Given the description of an element on the screen output the (x, y) to click on. 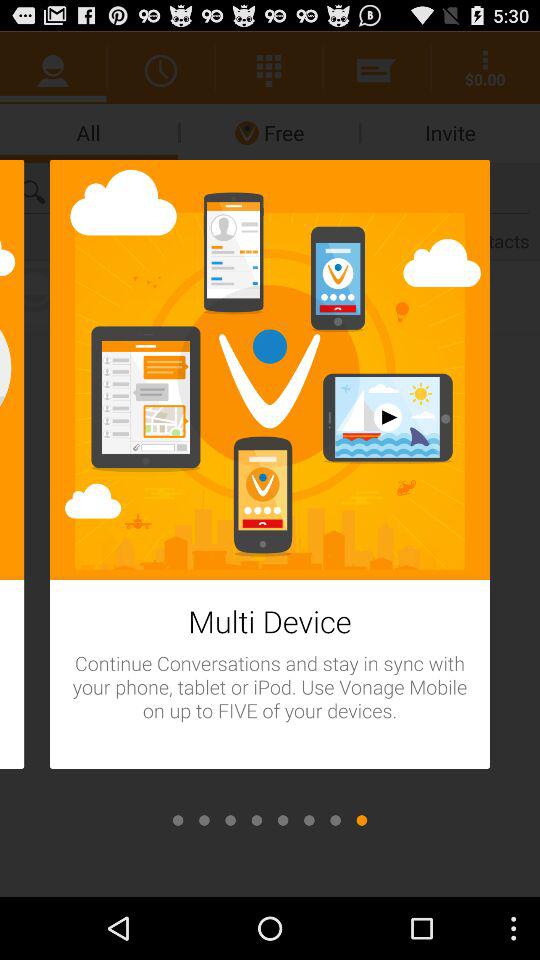
swipe image (178, 820)
